Given the description of an element on the screen output the (x, y) to click on. 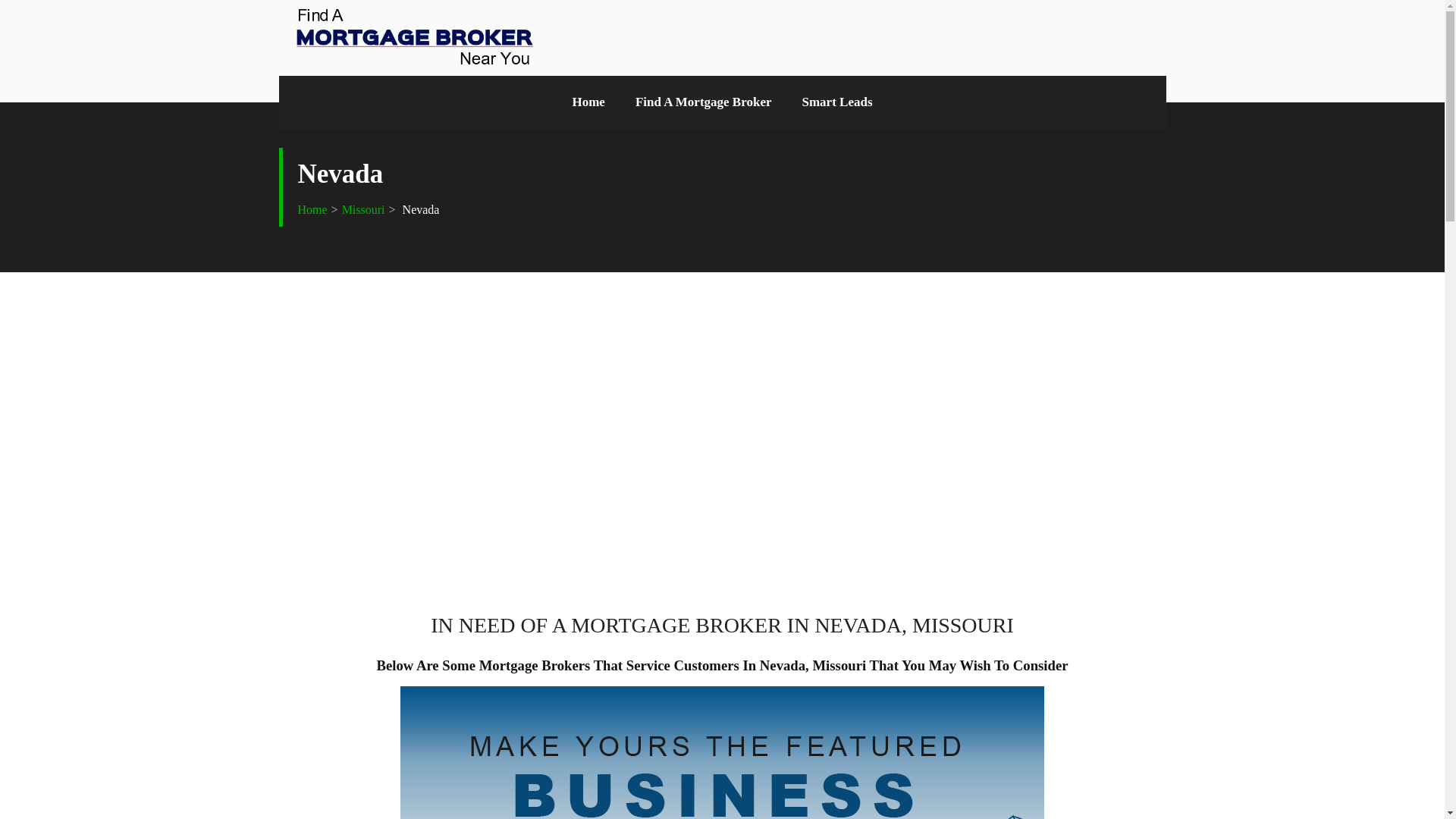
Home (588, 102)
Missouri (363, 209)
Home (588, 102)
Find a Mortgage Broker (703, 102)
Find A Mortgage Broker (703, 102)
Home (311, 209)
Home (311, 209)
Missouri (363, 209)
Smart Leads (837, 102)
Smart Leads (837, 102)
